Given the description of an element on the screen output the (x, y) to click on. 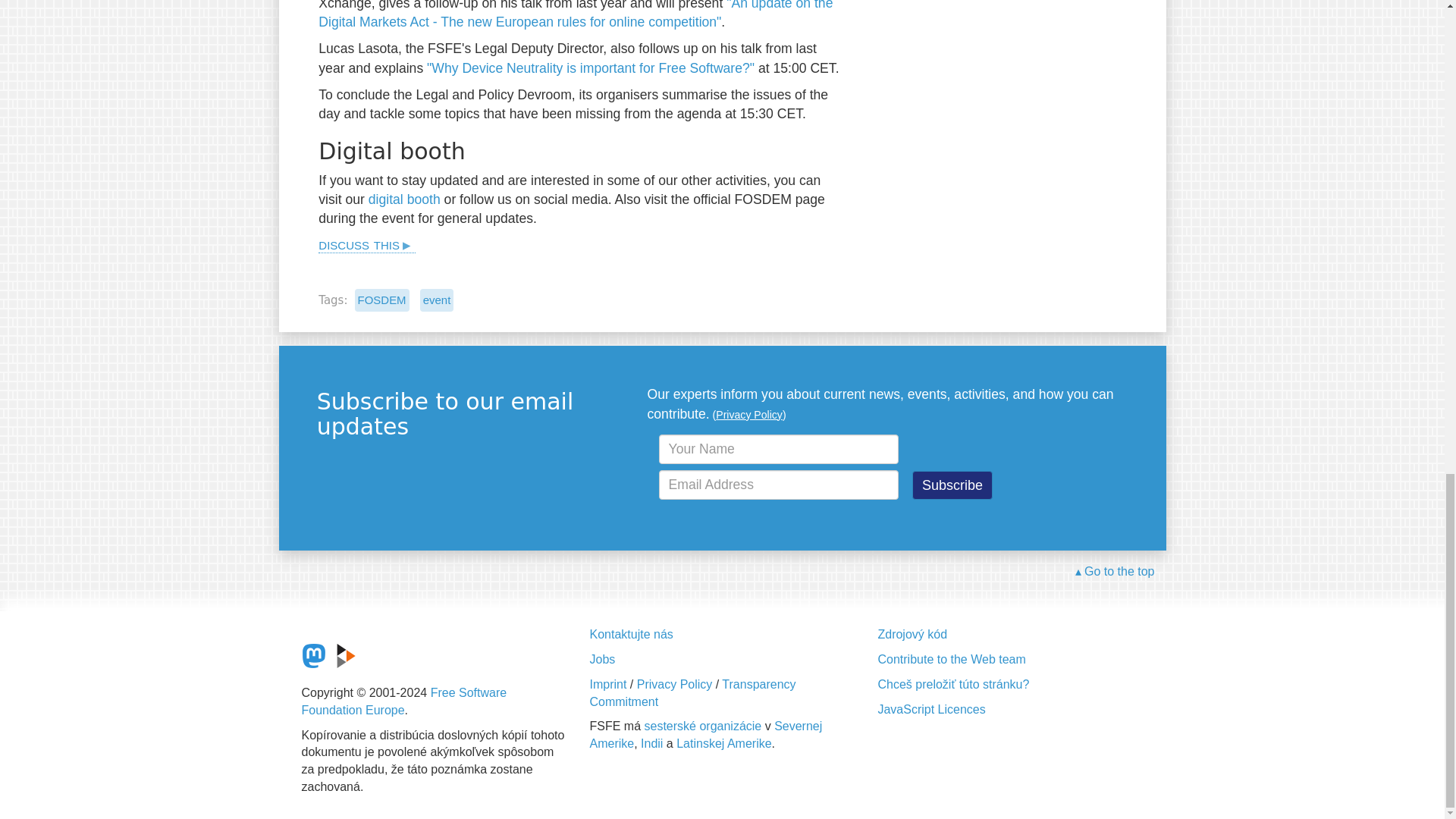
Privacy Policy (749, 414)
event (437, 300)
Peertube (345, 655)
Mastodon (313, 655)
digital booth (404, 199)
"Why Device Neutrality is important for Free Software?" (590, 67)
Subscribe (952, 484)
FOSDEM (382, 300)
discuss this (366, 244)
